Given the description of an element on the screen output the (x, y) to click on. 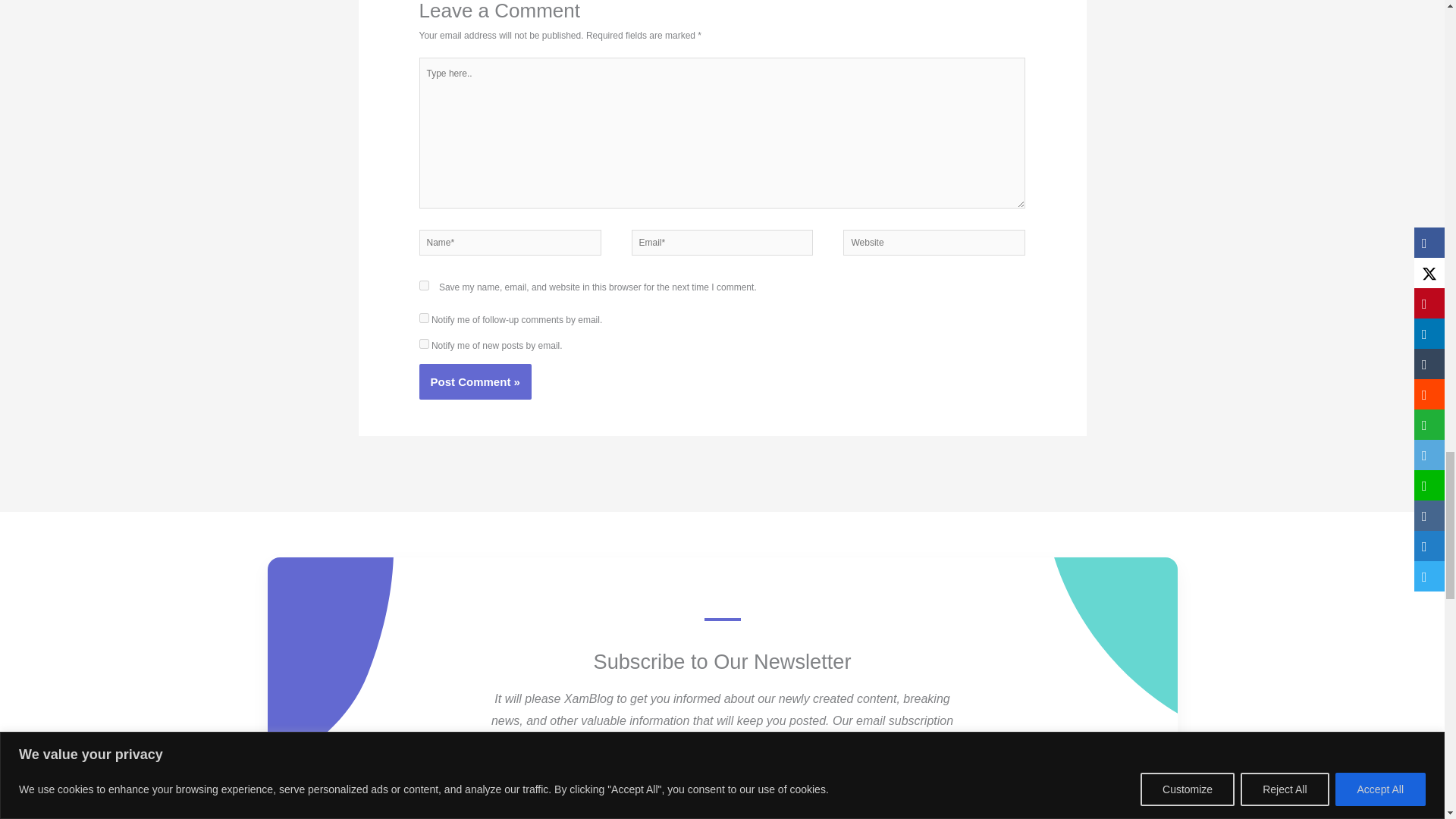
subscribe (424, 317)
subscribe (424, 343)
yes (424, 285)
